Given the description of an element on the screen output the (x, y) to click on. 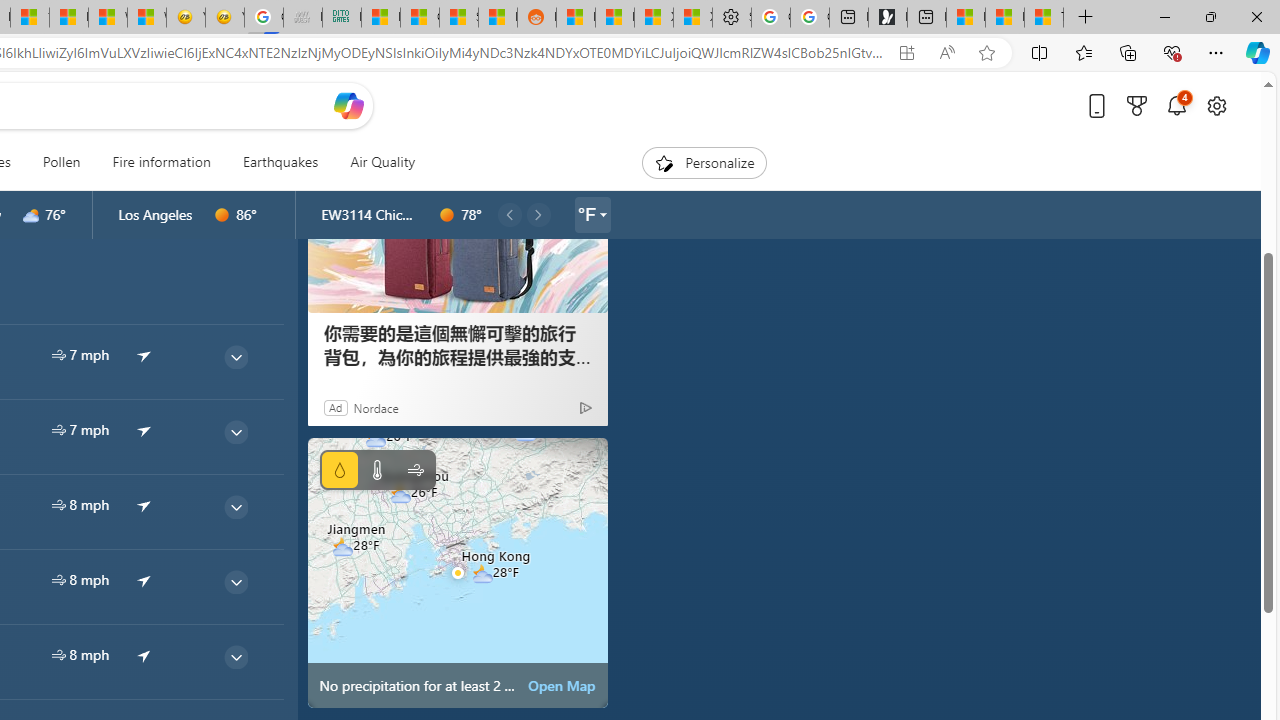
common/carouselChevron (538, 214)
static map image of vector map (457, 572)
Wind (414, 470)
